Given the description of an element on the screen output the (x, y) to click on. 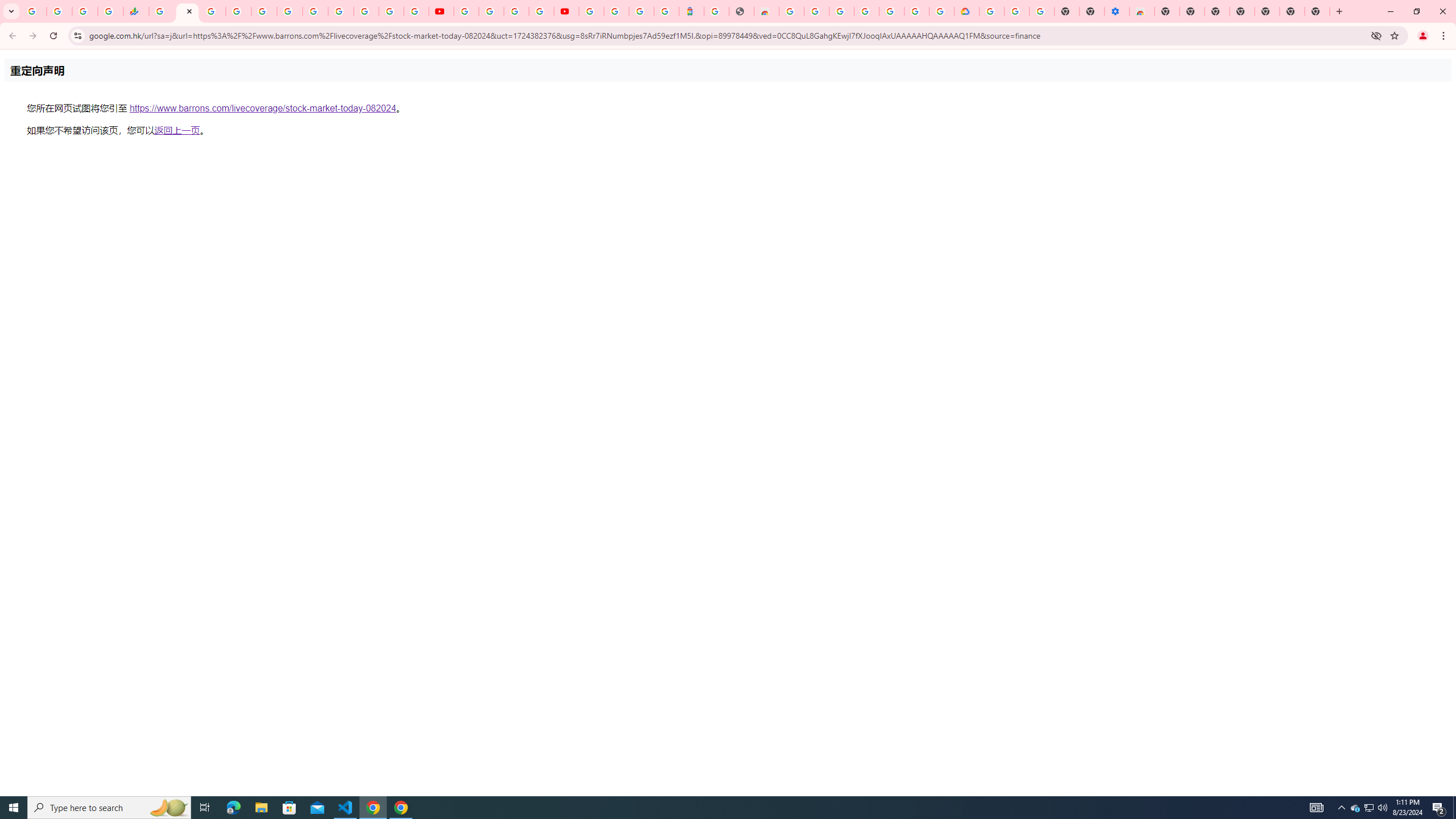
Google Account Help (1016, 11)
Settings - Accessibility (1116, 11)
New Tab (1166, 11)
Content Creator Programs & Opportunities - YouTube Creators (565, 11)
Privacy Checkup (415, 11)
